Given the description of an element on the screen output the (x, y) to click on. 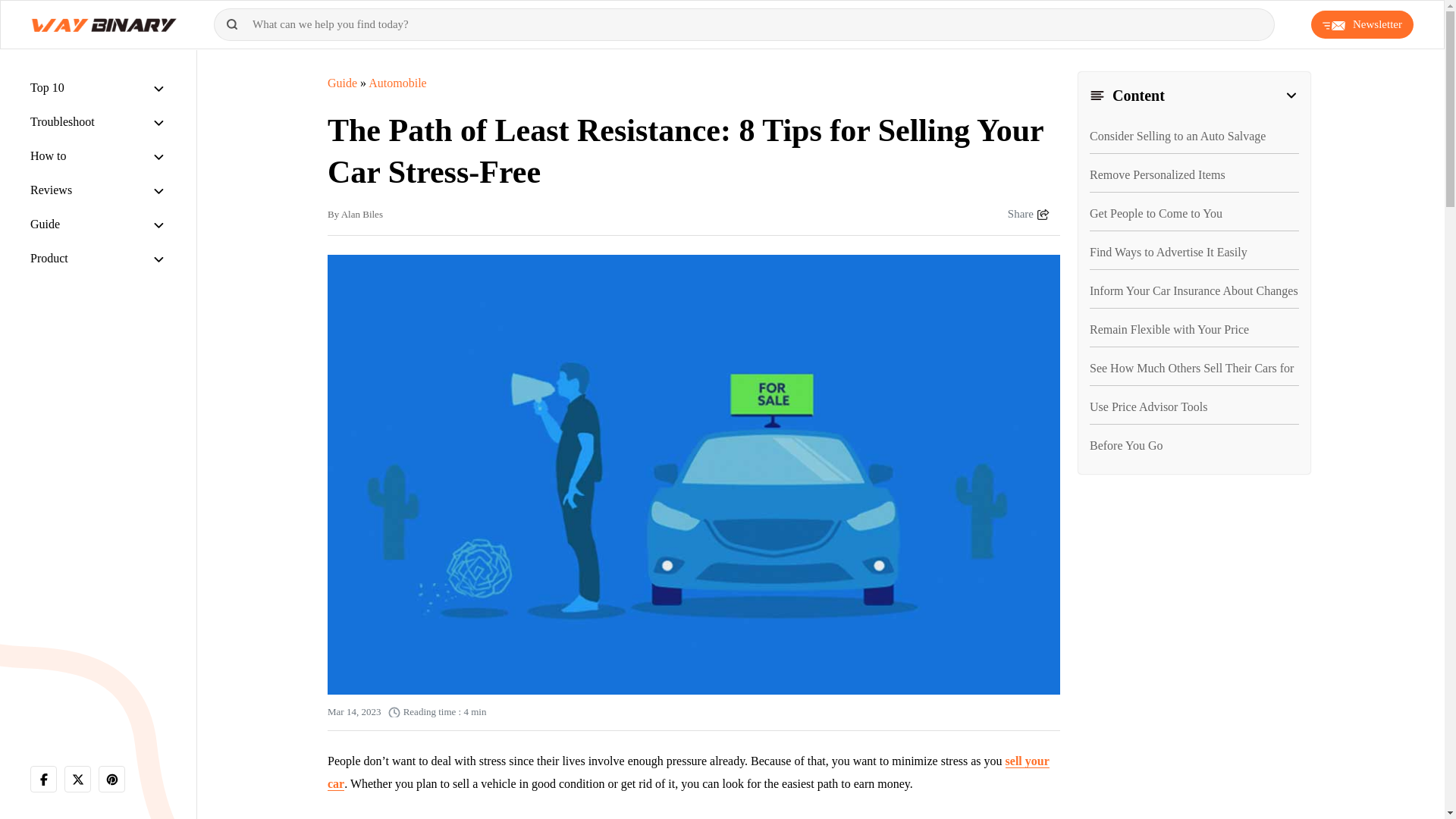
Troubleshoot (62, 121)
Reviews (50, 189)
How to (48, 155)
Top 10 (47, 87)
Top 10 (47, 87)
Newsletter (1362, 24)
Guide (44, 223)
Troubleshoot (62, 121)
How to (48, 155)
Search for: (744, 24)
